Given the description of an element on the screen output the (x, y) to click on. 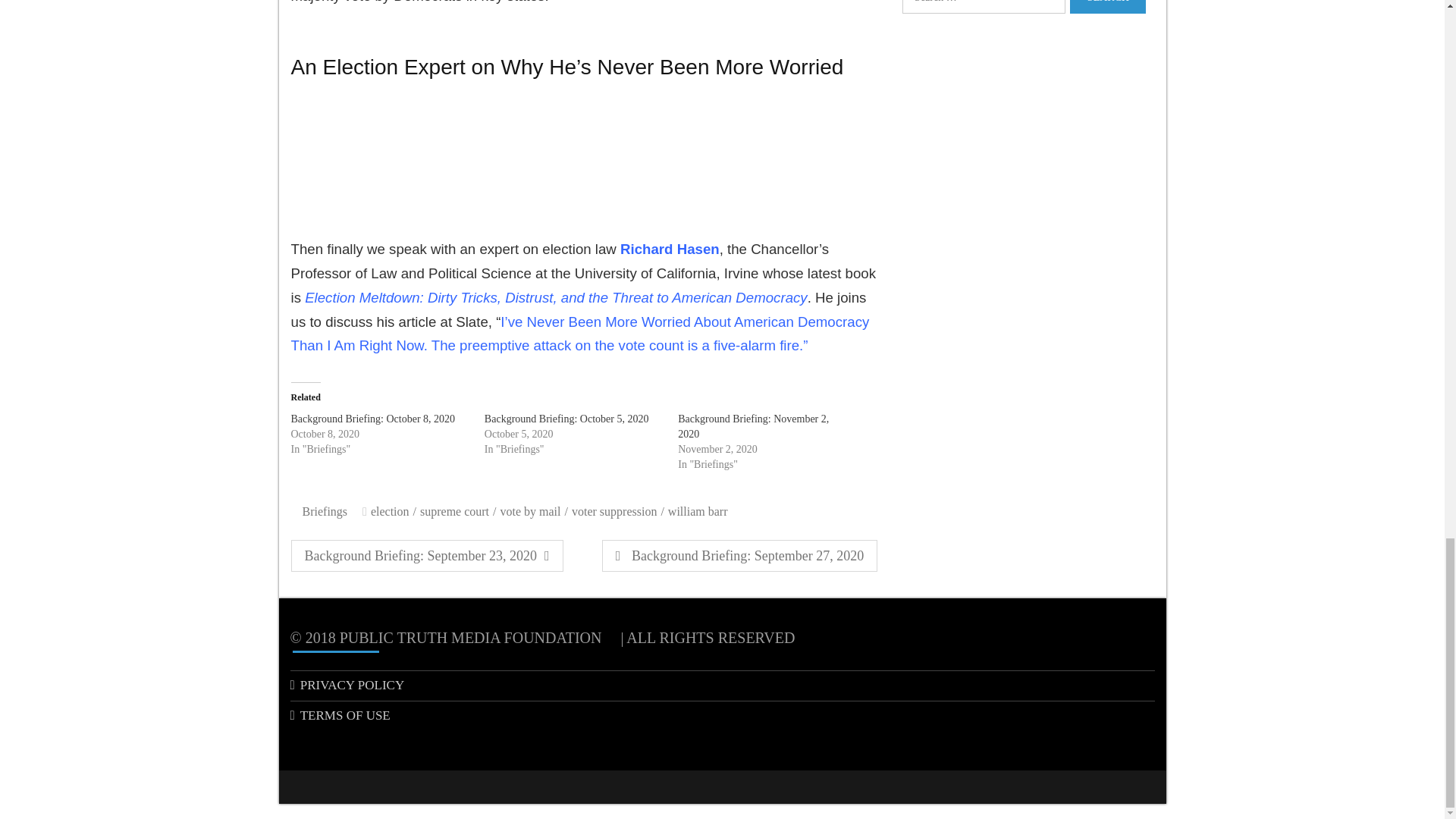
voter suppression (617, 511)
Search (1107, 6)
supreme court (458, 511)
Background Briefing: November 2, 2020 (753, 426)
Background Briefing: October 8, 2020 (373, 419)
vote by mail (533, 511)
Background Briefing: October 8, 2020 (373, 419)
Briefings (325, 510)
Background Briefing: October 5, 2020 (566, 419)
Background Briefing: November 2, 2020 (753, 426)
election (739, 555)
Richard Hasen (393, 511)
Search (669, 248)
